Given the description of an element on the screen output the (x, y) to click on. 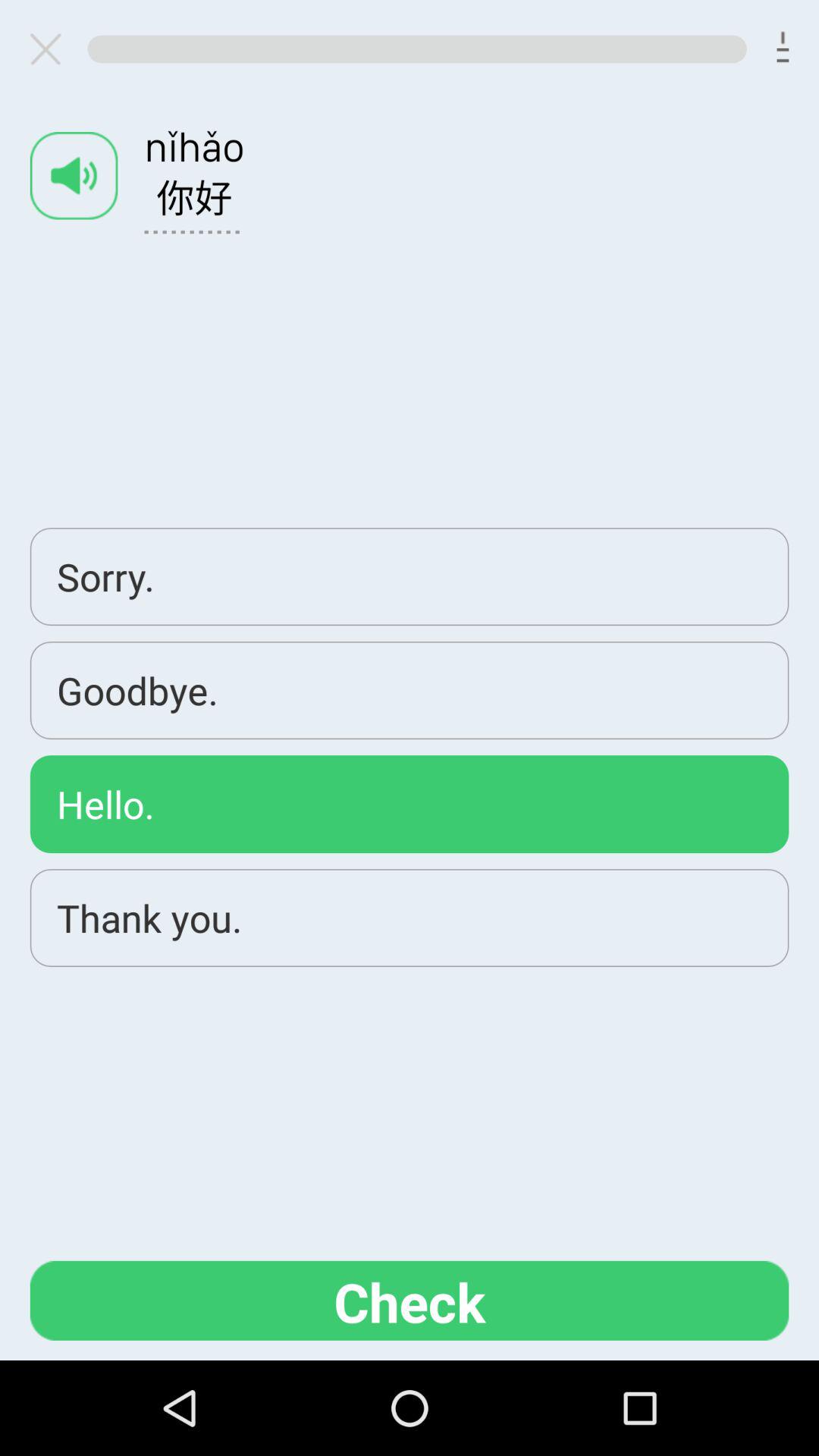
close lesson (51, 49)
